Given the description of an element on the screen output the (x, y) to click on. 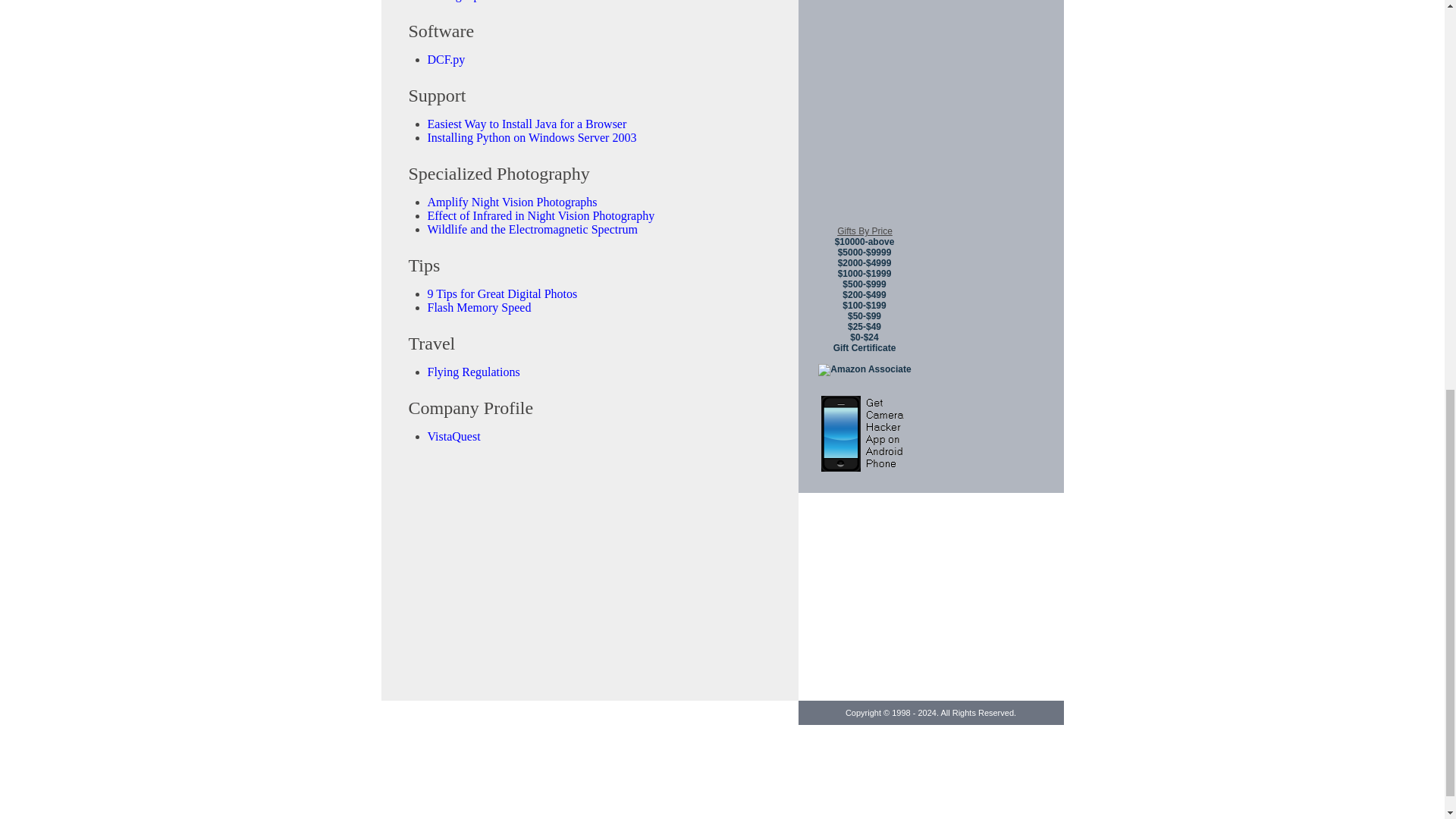
9 Tips for Great Digital Photos (503, 293)
Installing Python on Windows Server 2003 (532, 137)
Effect of Infrared in Night Vision Photography (541, 215)
Wildlife and the Electromagnetic Spectrum (532, 228)
Amplify Night Vision Photographs (512, 201)
DCF.py (446, 59)
Flash Memory Speed (479, 307)
VistaQuest (454, 436)
Flying Regulations (473, 371)
Easiest Way to Install Java for a Browser (527, 123)
